Given the description of an element on the screen output the (x, y) to click on. 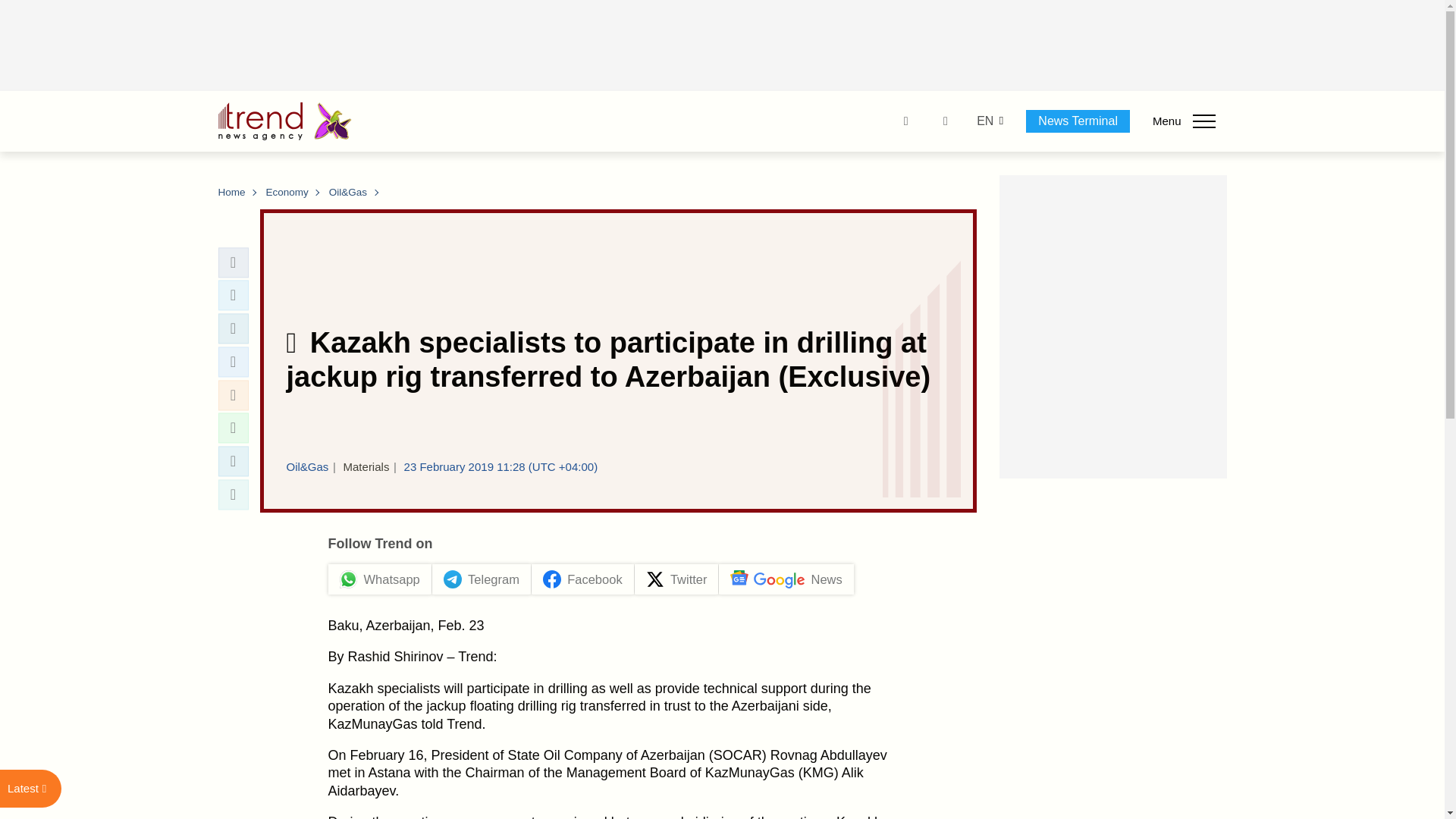
EN (984, 121)
English (984, 121)
News Terminal (1077, 120)
